Given the description of an element on the screen output the (x, y) to click on. 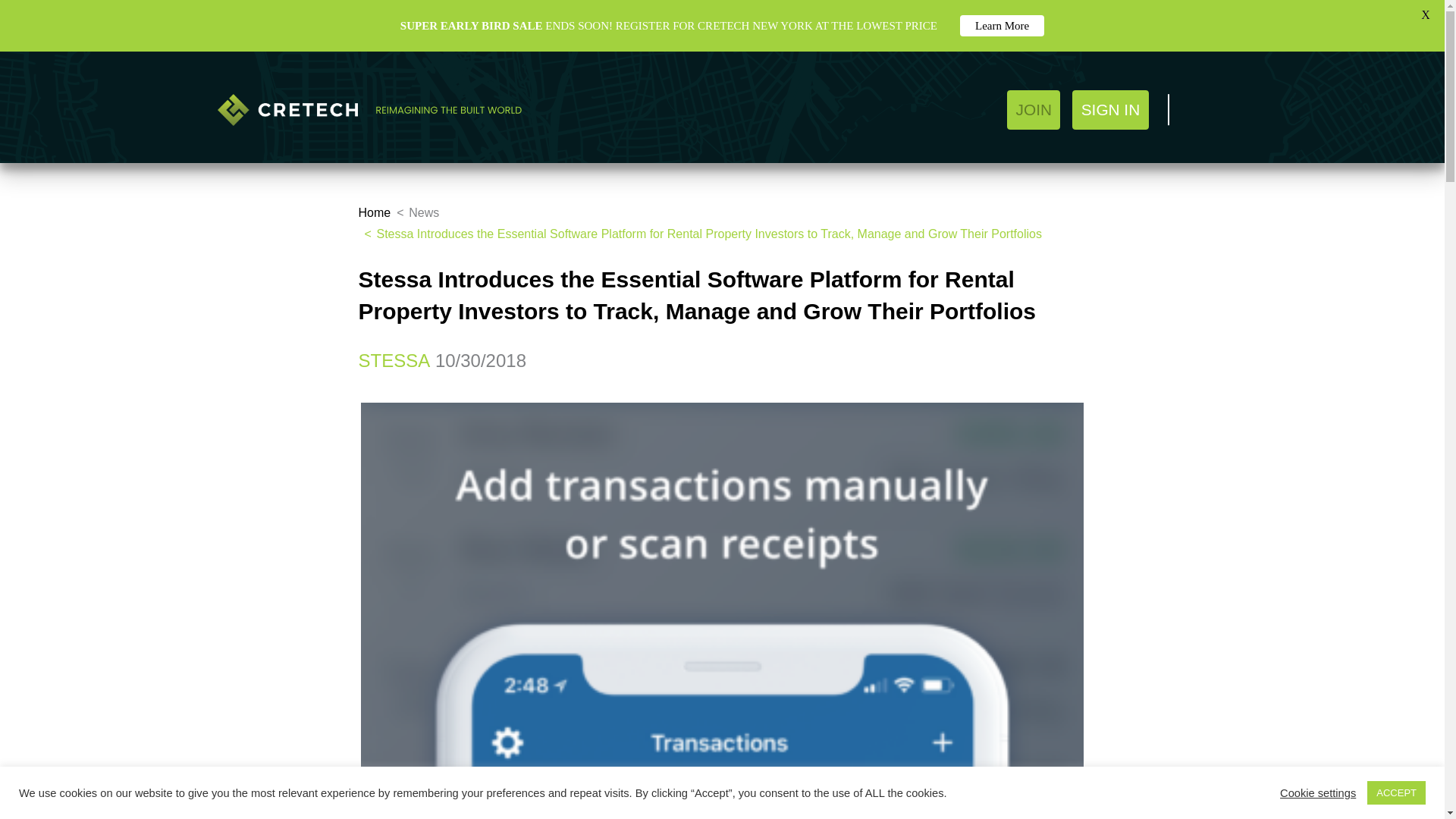
News (424, 212)
SIGN IN (1109, 109)
JOIN (1033, 109)
Home (374, 212)
